Given the description of an element on the screen output the (x, y) to click on. 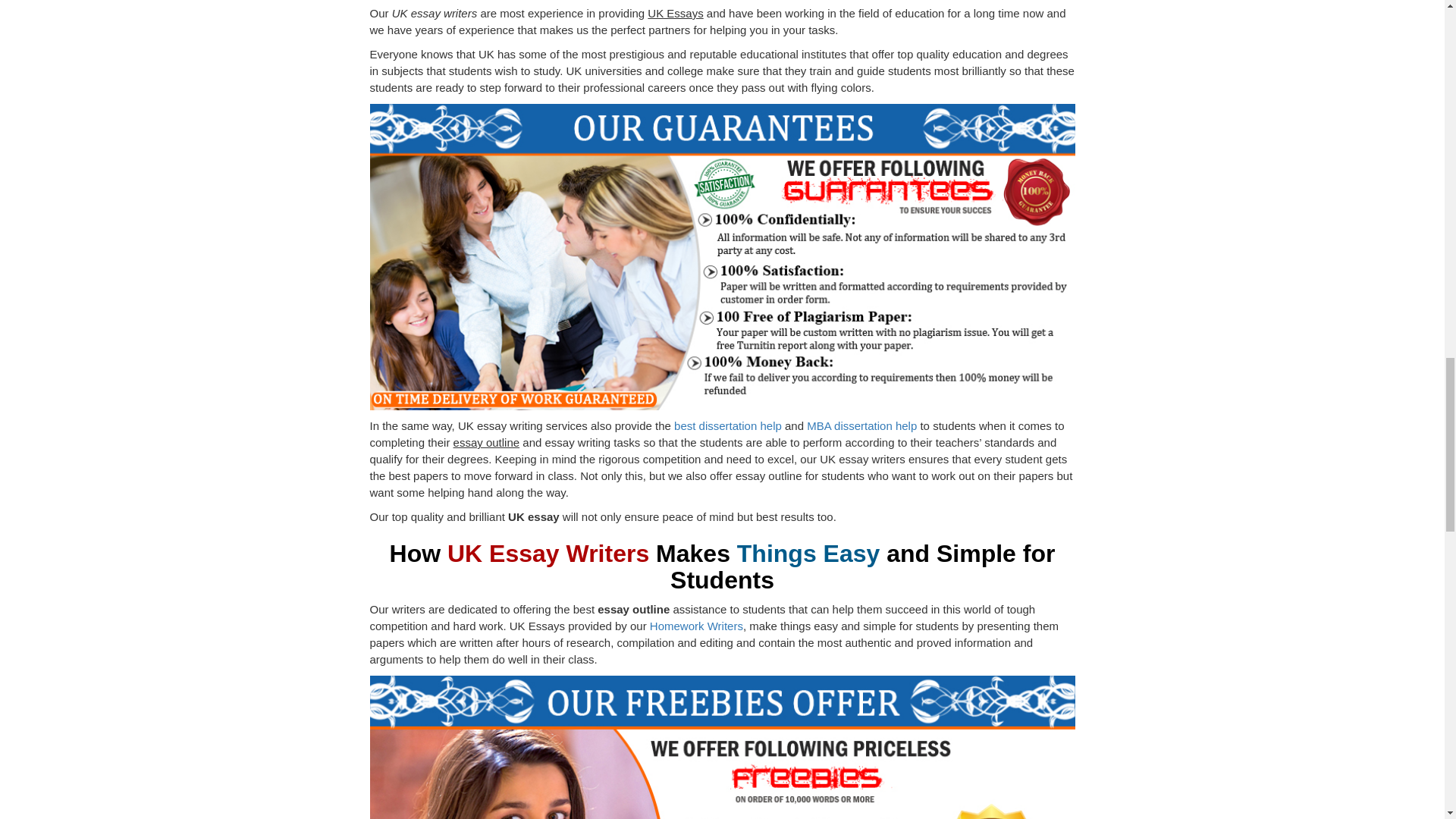
MBA dissertation help (861, 425)
Homework Writers (695, 625)
best dissertation help (727, 425)
